Given the description of an element on the screen output the (x, y) to click on. 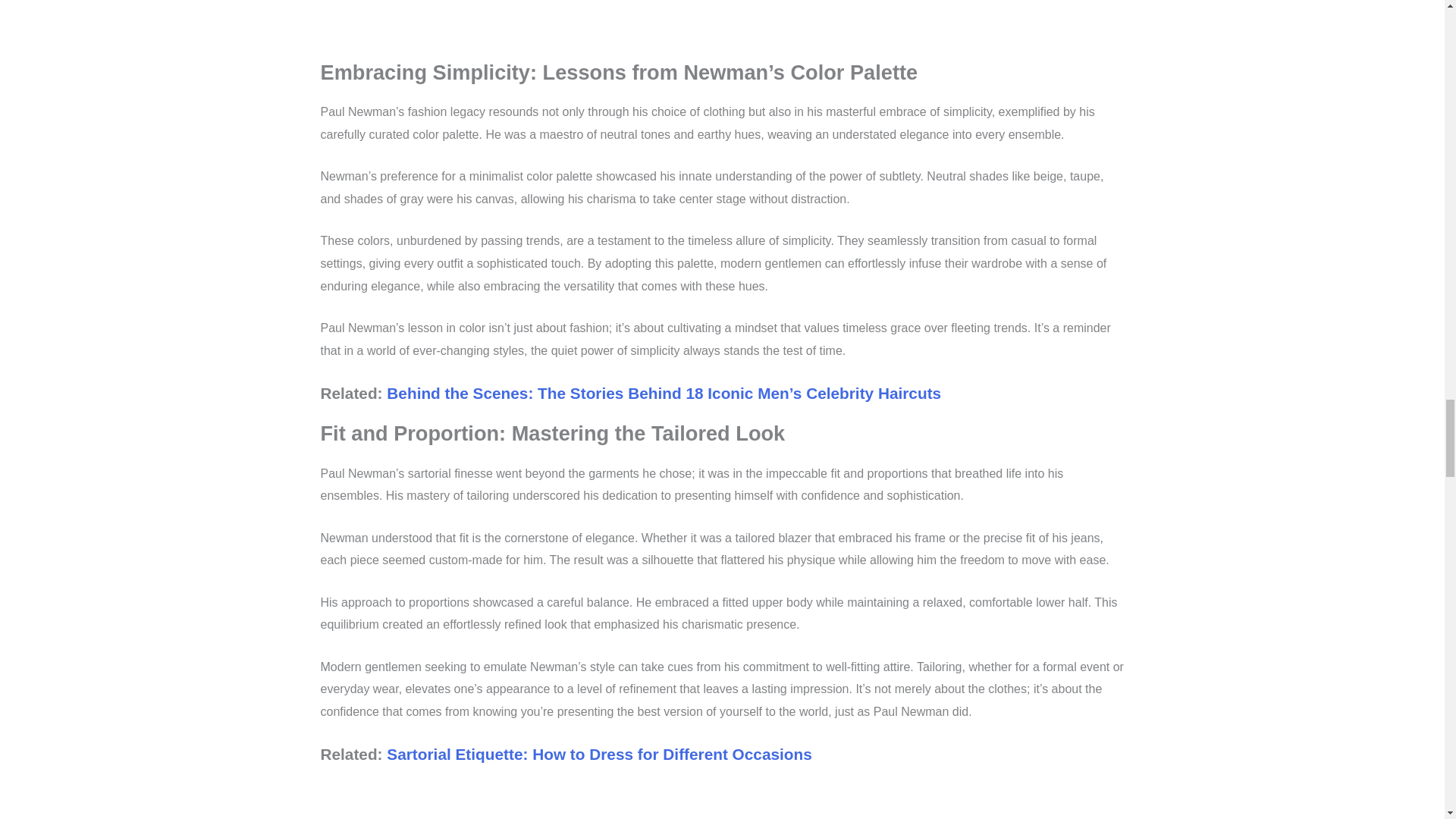
Sartorial Etiquette: How to Dress for Different Occasions (598, 753)
